Given the description of an element on the screen output the (x, y) to click on. 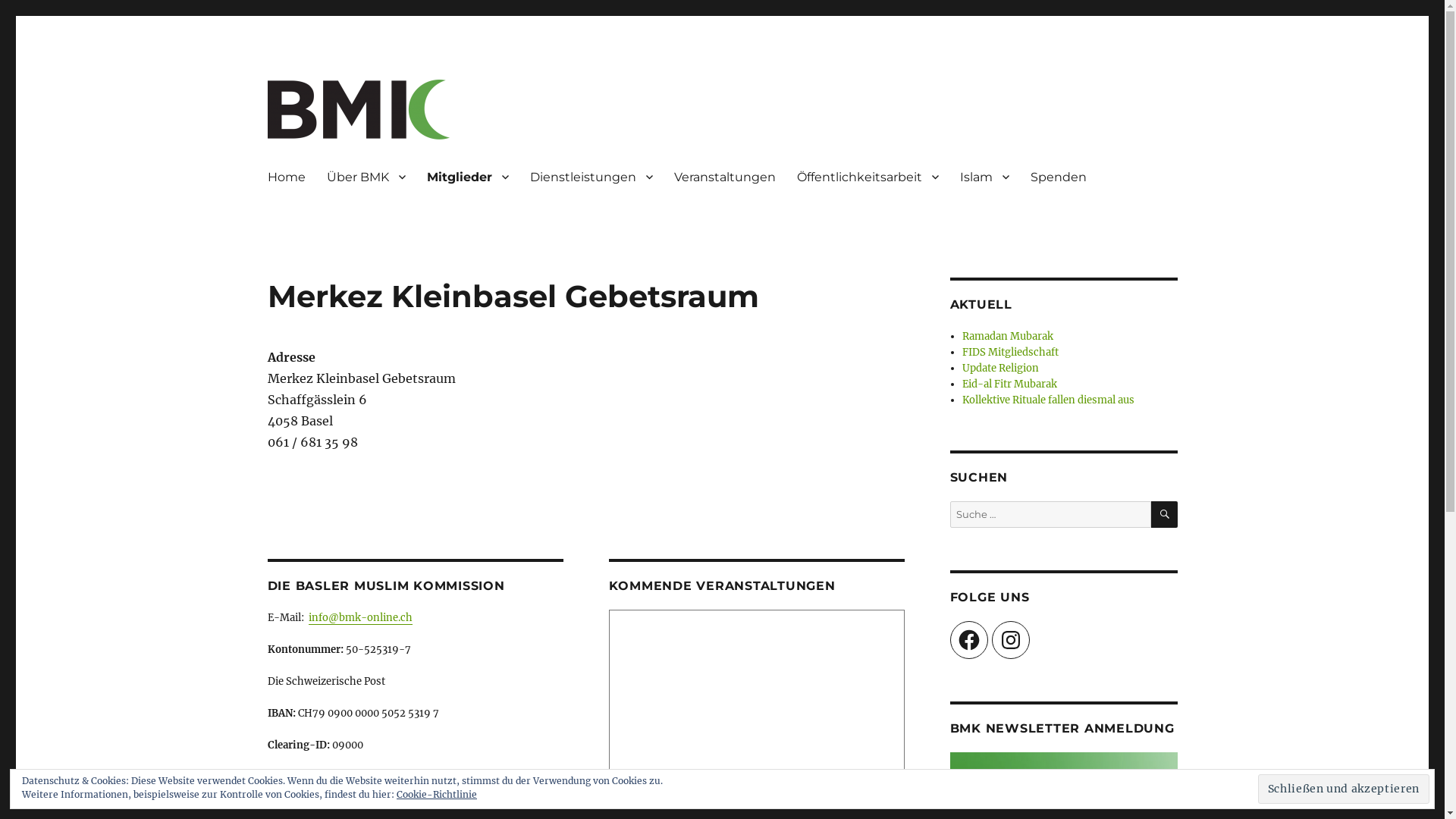
Ramadan Mubarak Element type: text (1007, 335)
Spenden Element type: text (1057, 176)
Mitglieder Element type: text (466, 176)
Facebook Element type: text (968, 639)
Home Element type: text (285, 176)
Islam Element type: text (984, 176)
info@bmk-online.ch Element type: text (359, 617)
Kollektive Rituale fallen diesmal aus Element type: text (1048, 399)
Update Religion Element type: text (1000, 367)
Instagram Element type: text (1010, 639)
FIDS Mitgliedschaft Element type: text (1010, 351)
SUCHEN Element type: text (1164, 514)
Cookie-Richtlinie Element type: text (436, 794)
Eid-al Fitr Mubarak Element type: text (1009, 383)
Veranstaltungen Element type: text (723, 176)
Dienstleistungen Element type: text (590, 176)
BMK Element type: text (292, 162)
